Given the description of an element on the screen output the (x, y) to click on. 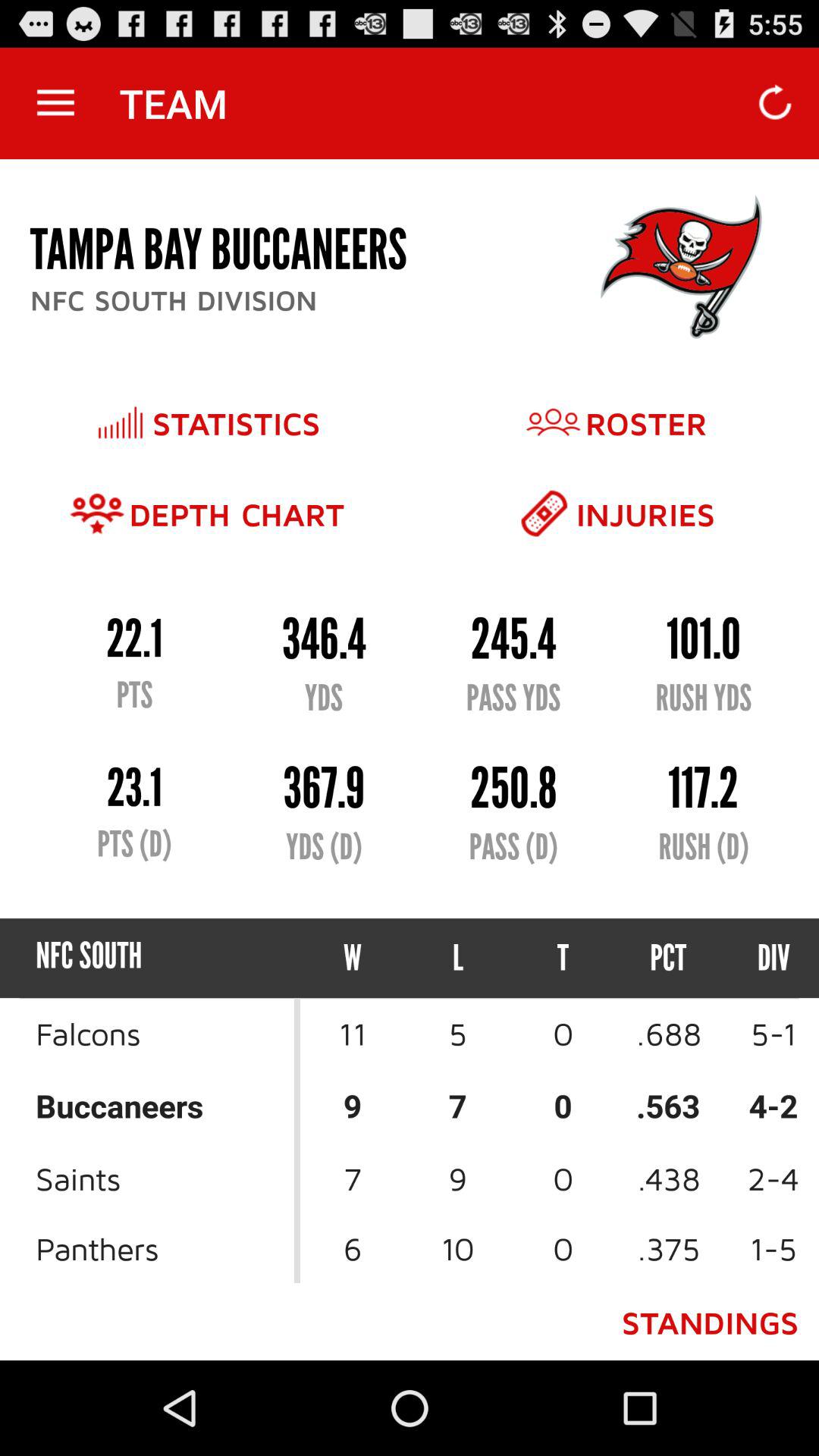
open item below the rush (d) icon (760, 958)
